Given the description of an element on the screen output the (x, y) to click on. 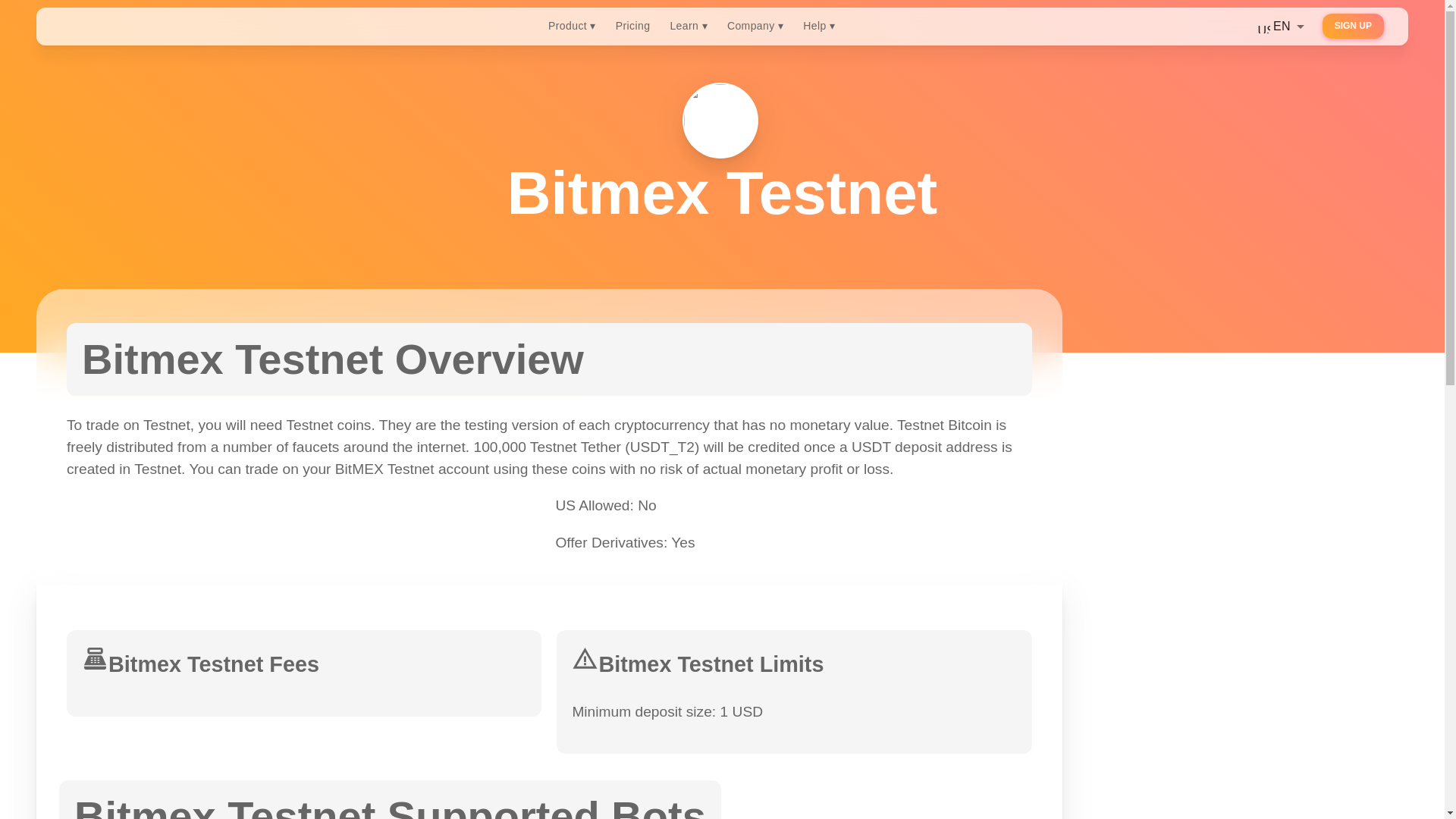
Pricing (633, 26)
SIGN UP (1353, 25)
US (1263, 27)
